Given the description of an element on the screen output the (x, y) to click on. 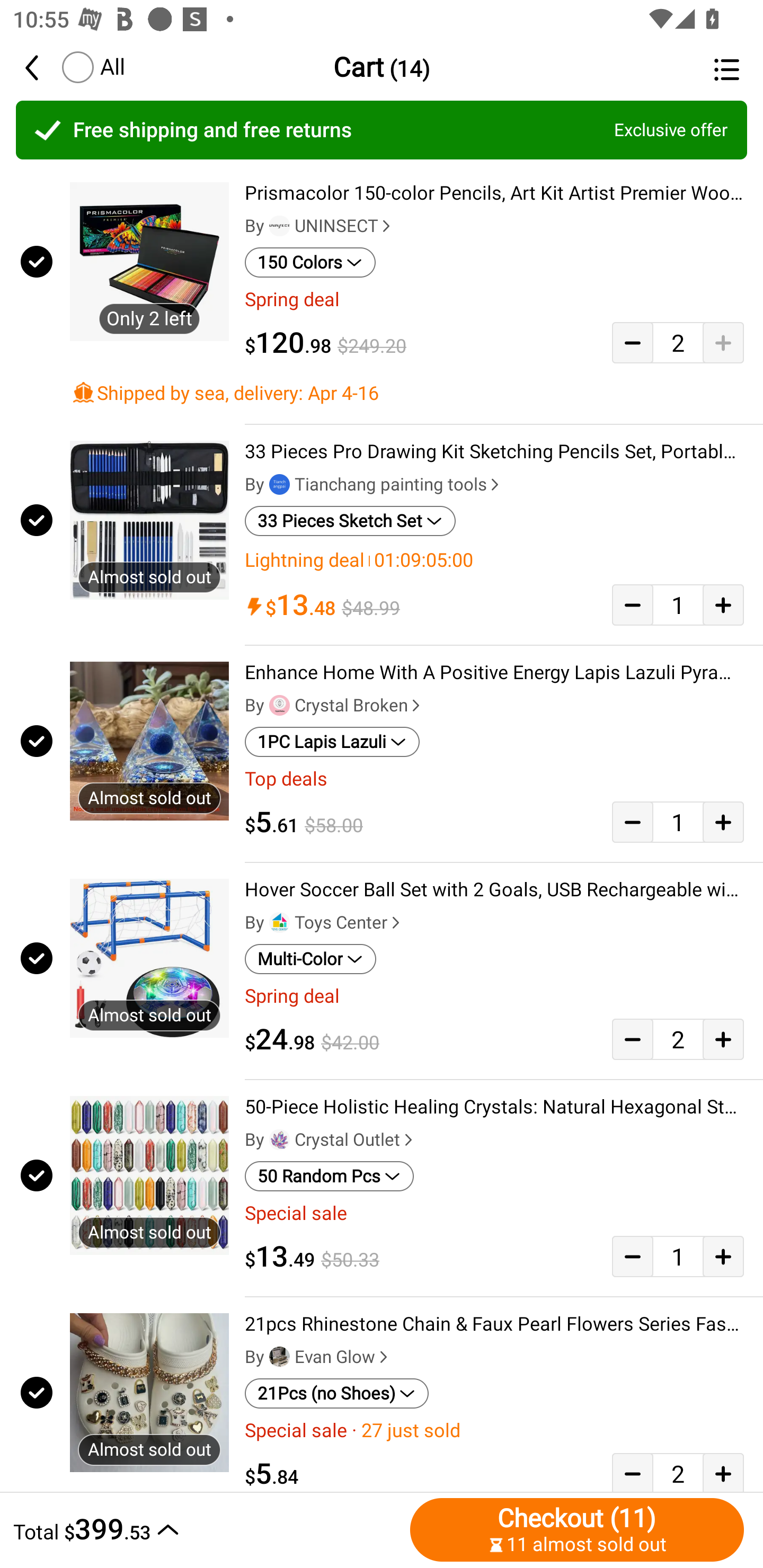
back (41, 67)
Select all tick button All (92, 67)
Free shipping and free returns Exclusive offer (381, 129)
Product checkbox checked (35, 260)
By UNINSECT (319, 226)
150 Colors (309, 262)
Decrease quantity button (632, 342)
2 (677, 342)
Add quantity button (722, 342)
 Shipped by sea, delivery: Apr 4-16 (406, 391)
Product checkbox checked (35, 519)
By Tianchang painting tools (373, 484)
33 Pieces Sketch Set (349, 521)
Lightning deal | ￼ (493, 560)
Decrease quantity button (632, 604)
1 (677, 604)
Add quantity button (722, 604)
Product checkbox checked (35, 740)
By Crystal Broken (334, 704)
1PC Lapis Lazuli (331, 742)
Top deals (493, 779)
Decrease quantity button (632, 822)
1 (677, 822)
Add quantity button (722, 822)
Product checkbox checked (35, 958)
By Toys Center (323, 922)
Multi-Color (310, 958)
Spring deal (493, 996)
Decrease quantity button (632, 1039)
2 (677, 1039)
Add quantity button (722, 1039)
Product checkbox checked (35, 1174)
By Crystal Outlet (330, 1138)
50 Random Pcs (328, 1176)
Decrease quantity button (632, 1256)
1 (677, 1256)
Add quantity button (722, 1256)
Product checkbox checked (35, 1392)
By Evan Glow (317, 1356)
21Pcs (no Shoes) (336, 1393)
Decrease quantity button (632, 1472)
2 (677, 1472)
Add quantity button (722, 1472)
Total $399.53 (206, 1529)
Checkout Checkout (11) ￼11 almost sold out (576, 1529)
